Given the description of an element on the screen output the (x, y) to click on. 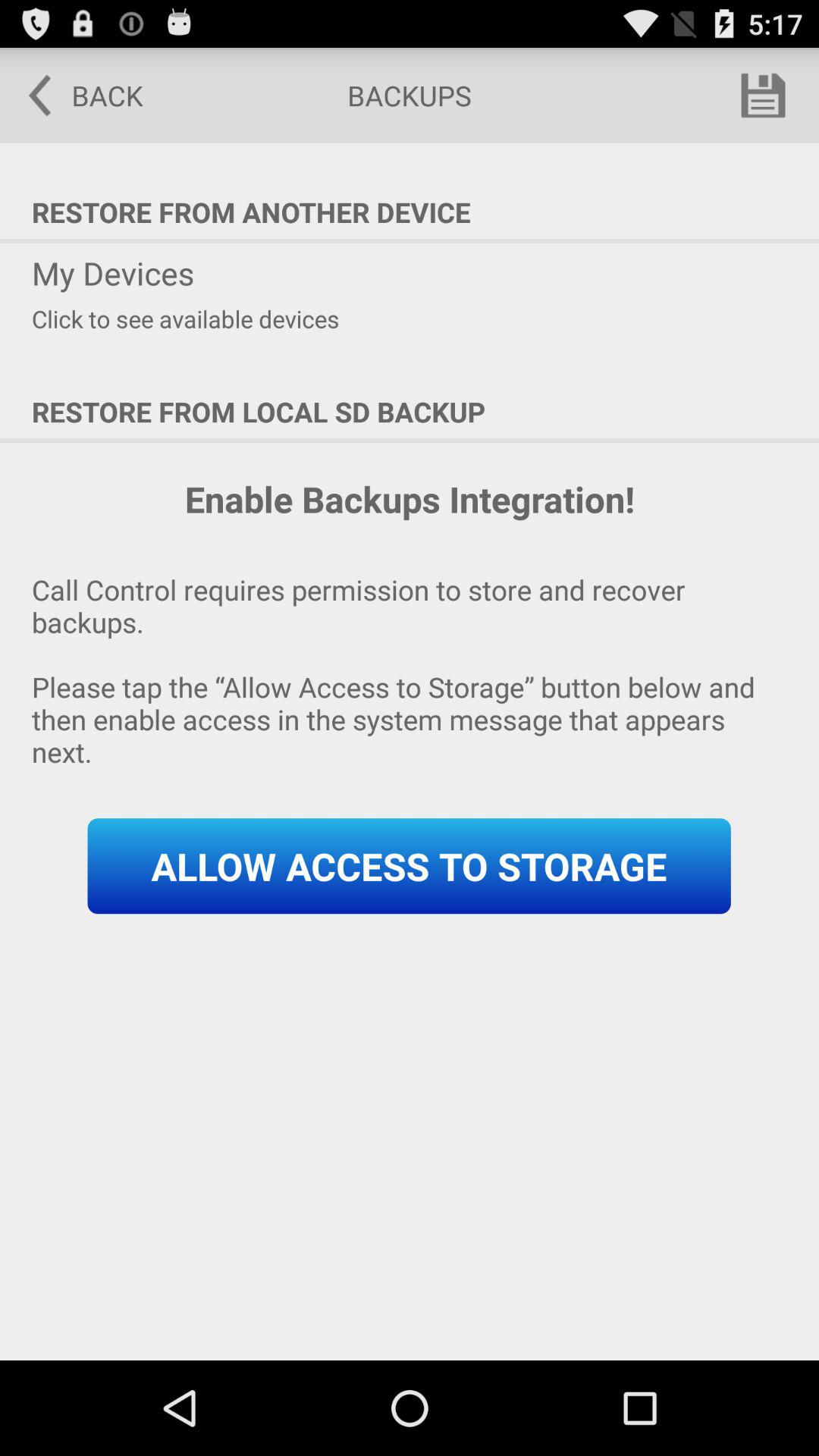
turn off the back at the top left corner (75, 95)
